Given the description of an element on the screen output the (x, y) to click on. 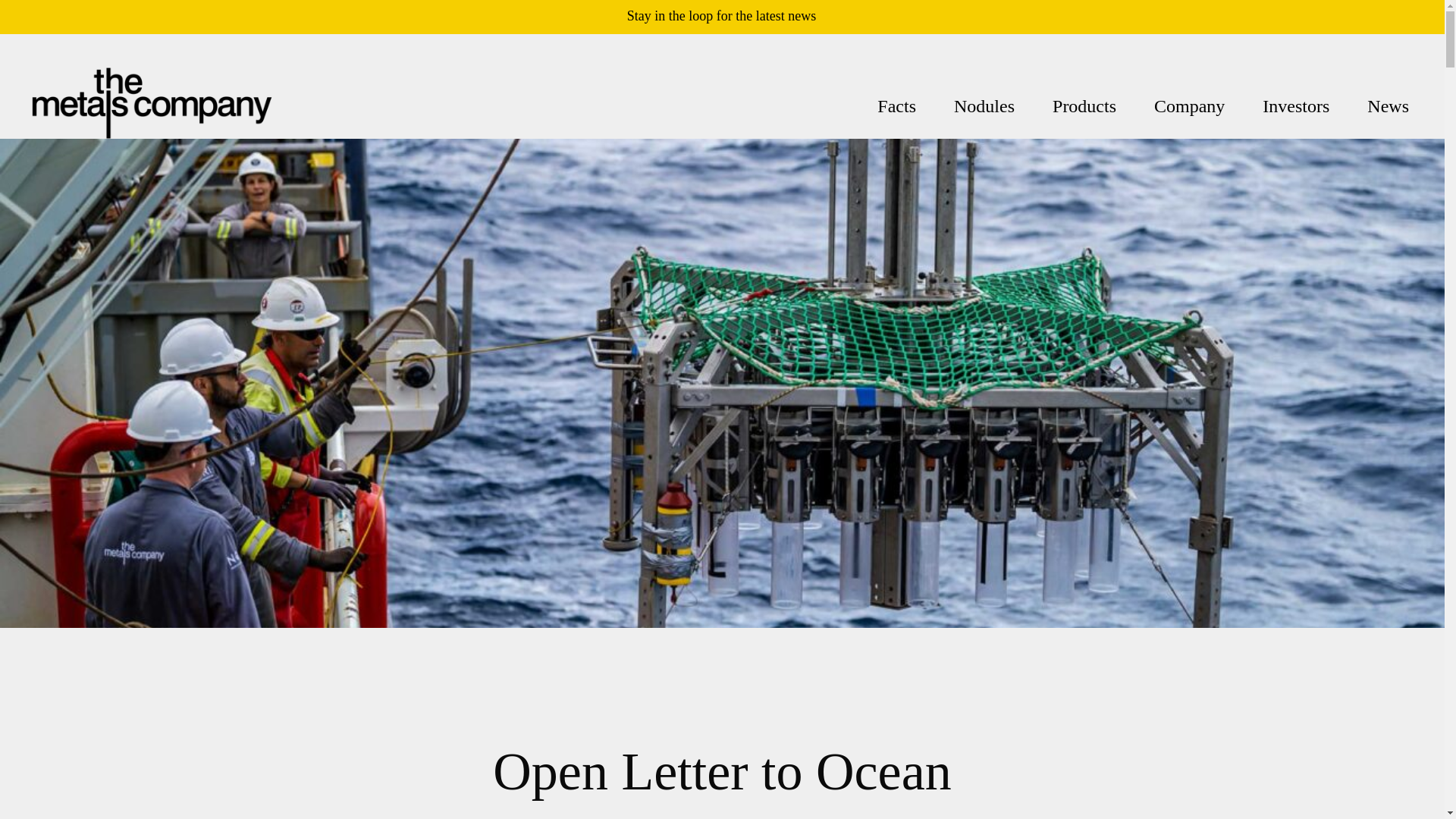
Facts (896, 106)
Investors (1295, 106)
Company (1189, 106)
News (1388, 106)
Nodules (983, 106)
Products (1084, 106)
